Given the description of an element on the screen output the (x, y) to click on. 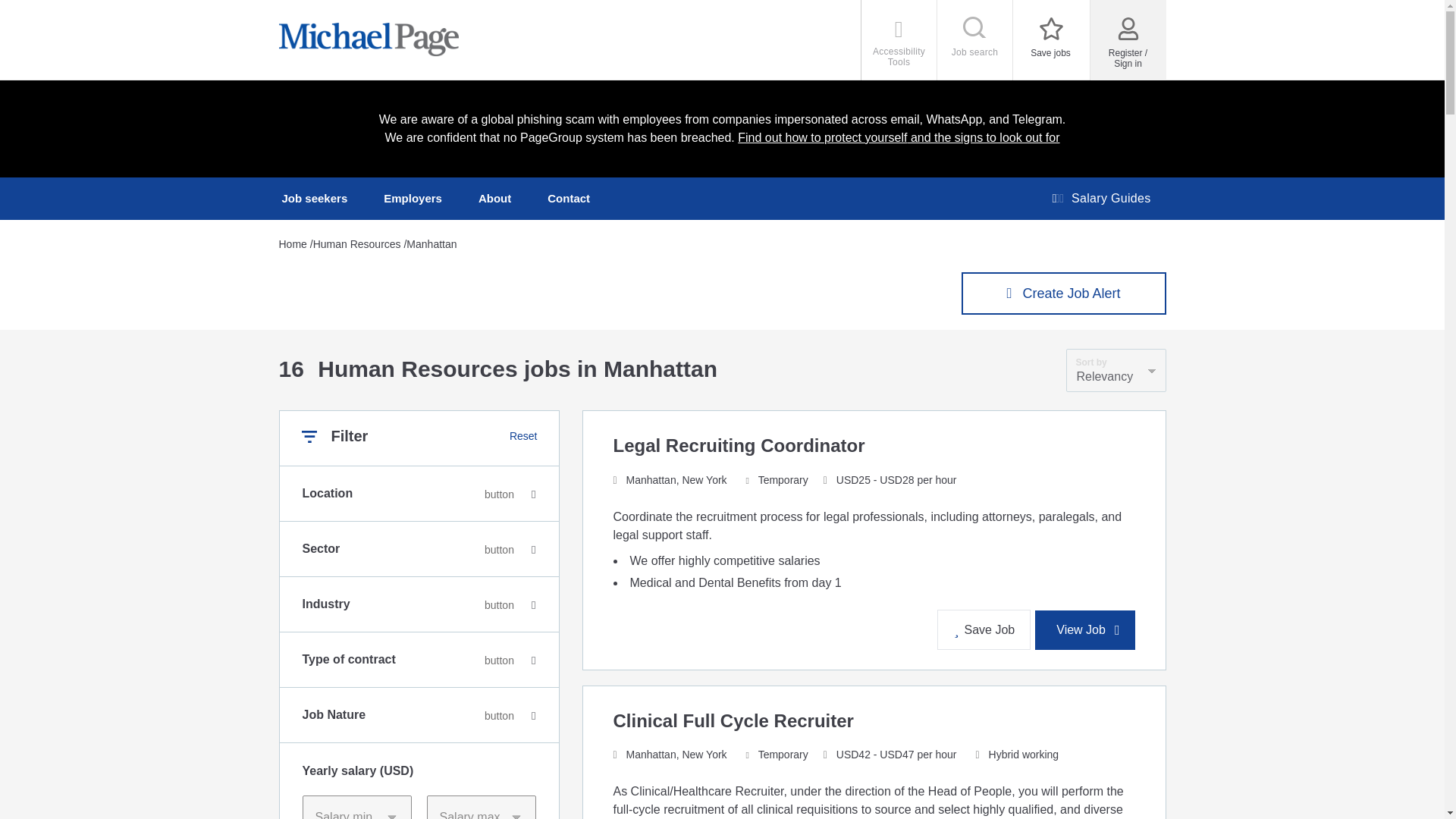
Job seekers (314, 198)
Employers (413, 198)
Job search (975, 40)
 and the signs to look out for (983, 137)
Accessibility Tools (899, 40)
Find out how to protect yourself (822, 137)
